Given the description of an element on the screen output the (x, y) to click on. 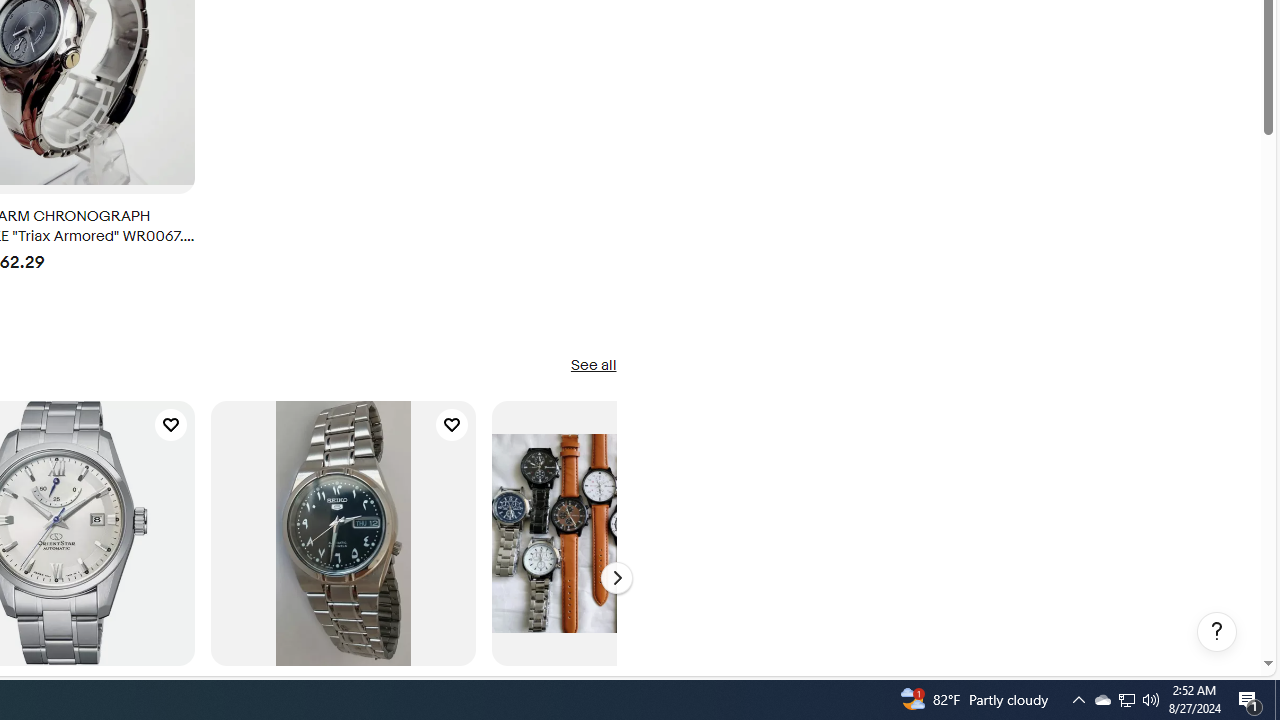
Help, opens dialogs (1217, 632)
NEW Seiko 5 Men's Automatic Watch with Arabic Dial New (343, 533)
See all (592, 366)
Go to the next slide, Wristwatches - Carousel (616, 578)
